Given the description of an element on the screen output the (x, y) to click on. 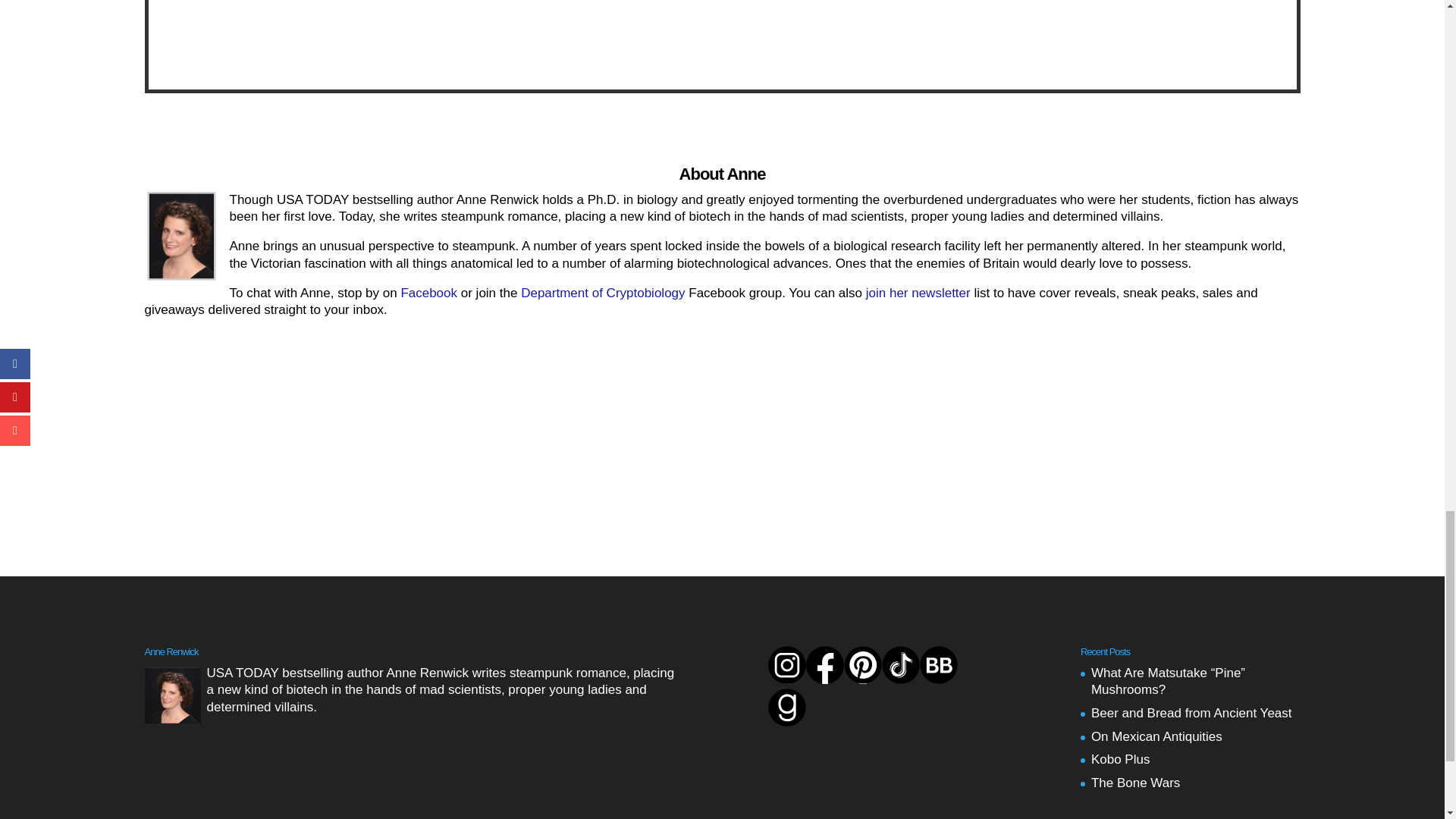
Beer and Bread from Ancient Yeast (1191, 712)
join her newsletter (918, 292)
Facebook (428, 292)
Simon's Adventure (309, 34)
Department of Cryptobiology (602, 292)
Tea Rex (1136, 34)
Contraptions at Key City Steampunk (722, 34)
On Mexican Antiquities (1156, 736)
Kobo Plus (1120, 759)
